Given the description of an element on the screen output the (x, y) to click on. 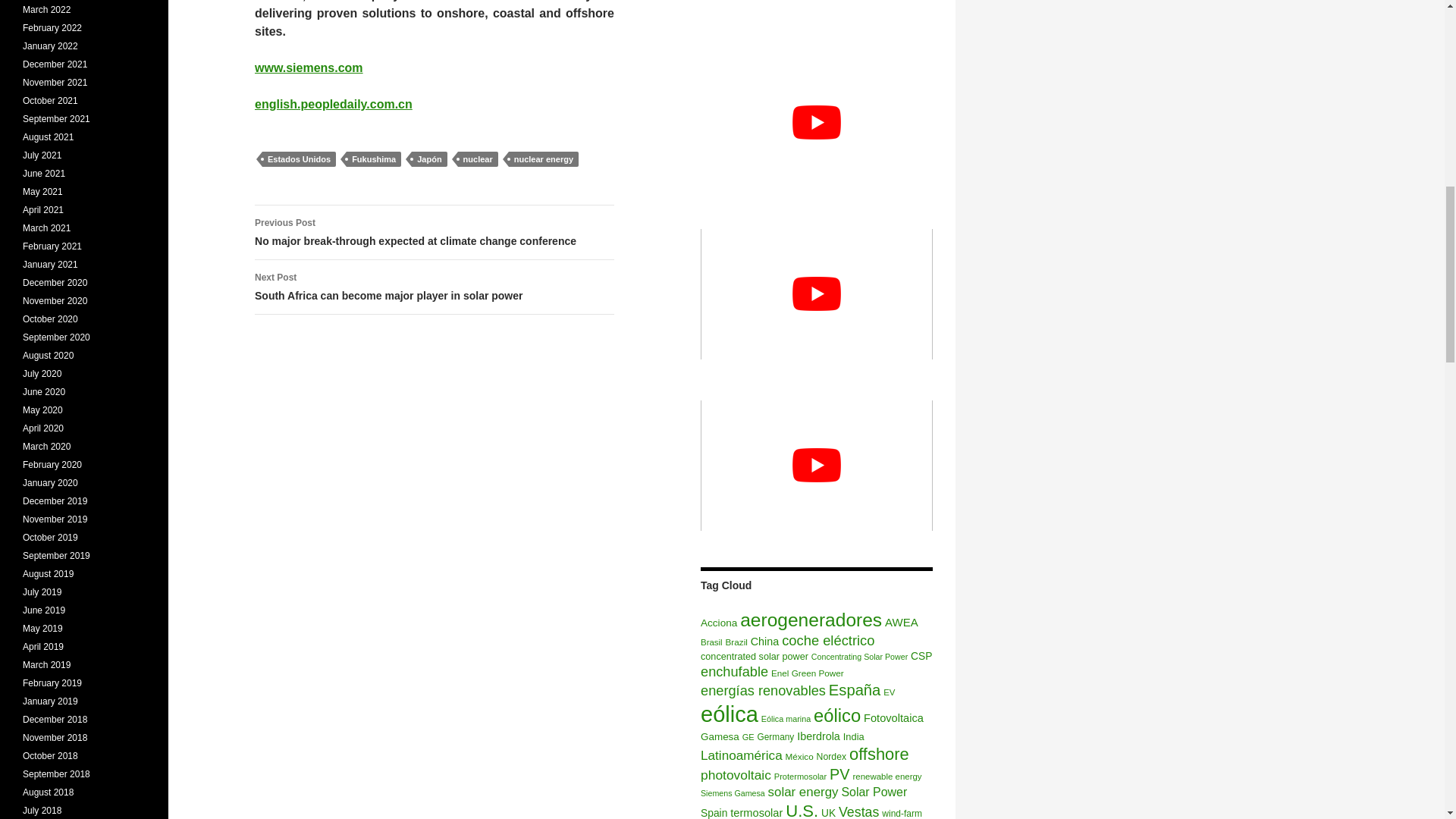
Fukushima (373, 159)
nuclear energy (543, 159)
nuclear (477, 159)
Estados Unidos (299, 159)
aerogeneradores (810, 619)
www.siemens.com (308, 67)
Acciona (718, 622)
english.peopledaily.com.cn (333, 103)
